Given the description of an element on the screen output the (x, y) to click on. 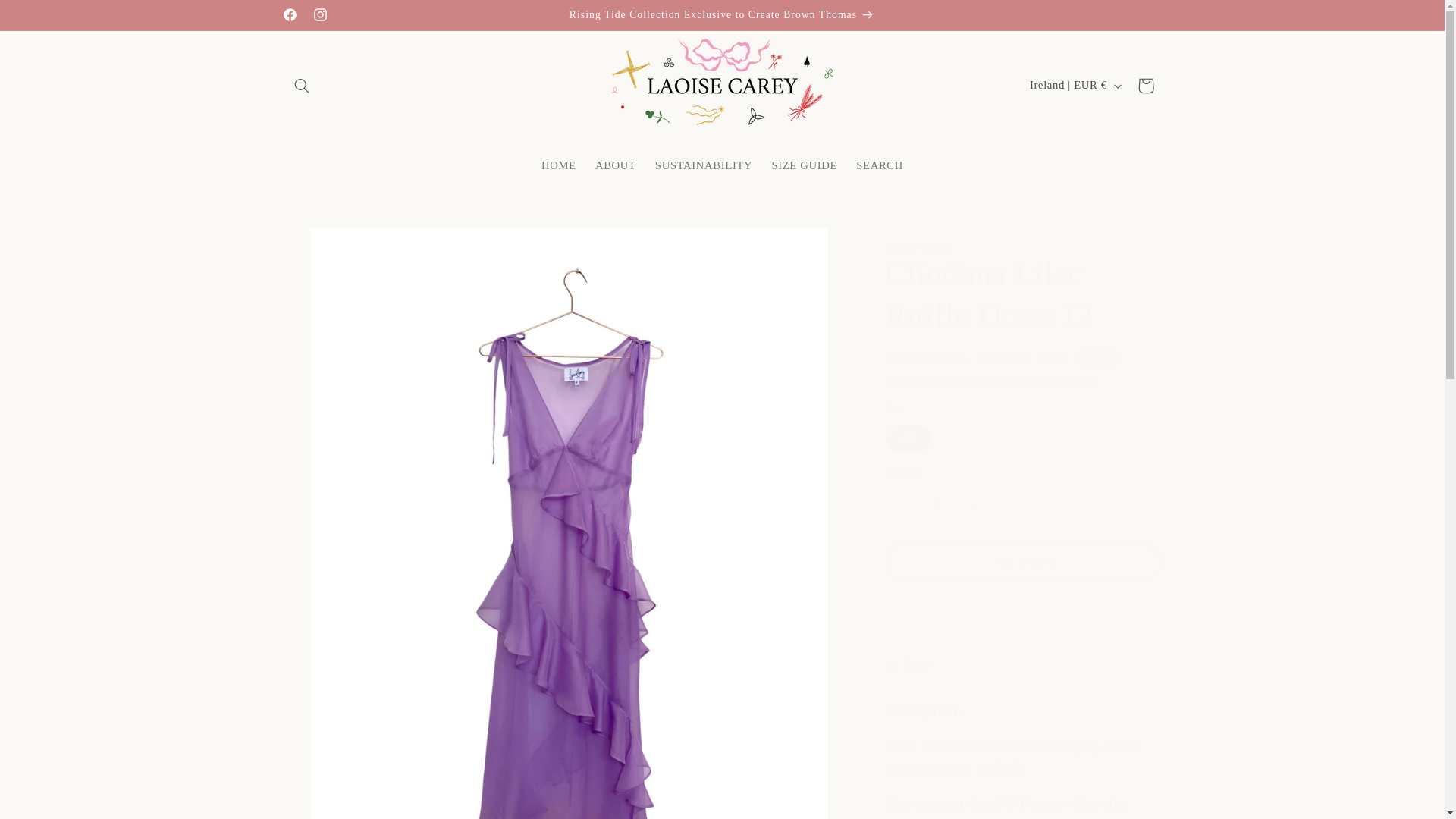
ABOUT (615, 165)
Shipping (975, 380)
Skip to product information (331, 245)
1 (939, 505)
Rising Tide Collection Exclusive to Create Brown Thomas (722, 15)
SIZE GUIDE (804, 165)
SUSTAINABILITY (703, 165)
Skip to content (48, 18)
Facebook (289, 15)
Cart (1145, 85)
HOME (558, 165)
Instagram (319, 15)
SEARCH (879, 165)
